Given the description of an element on the screen output the (x, y) to click on. 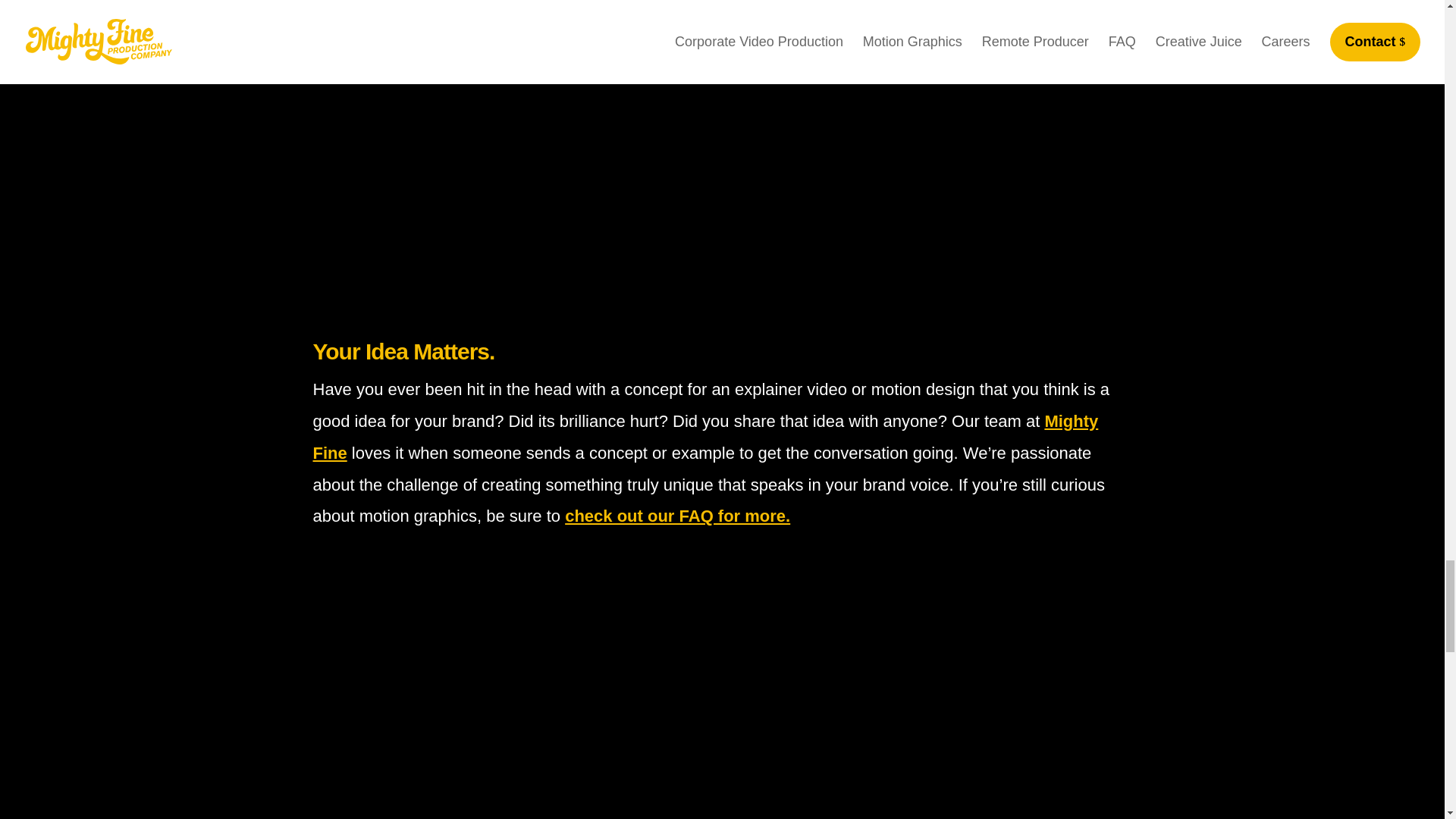
Mighty Fine (705, 436)
check out our FAQ for more. (677, 515)
